Given the description of an element on the screen output the (x, y) to click on. 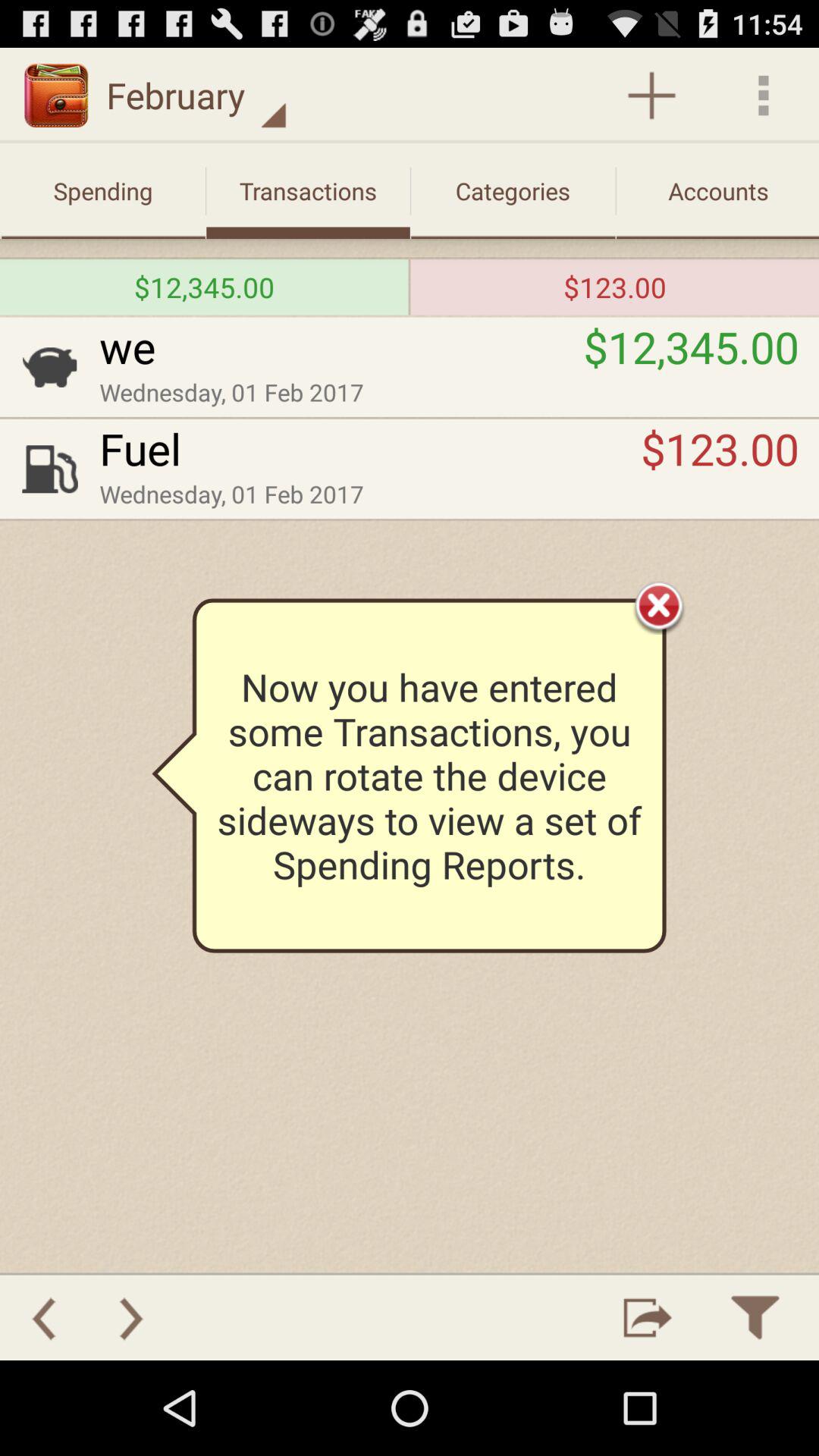
export (647, 1317)
